Given the description of an element on the screen output the (x, y) to click on. 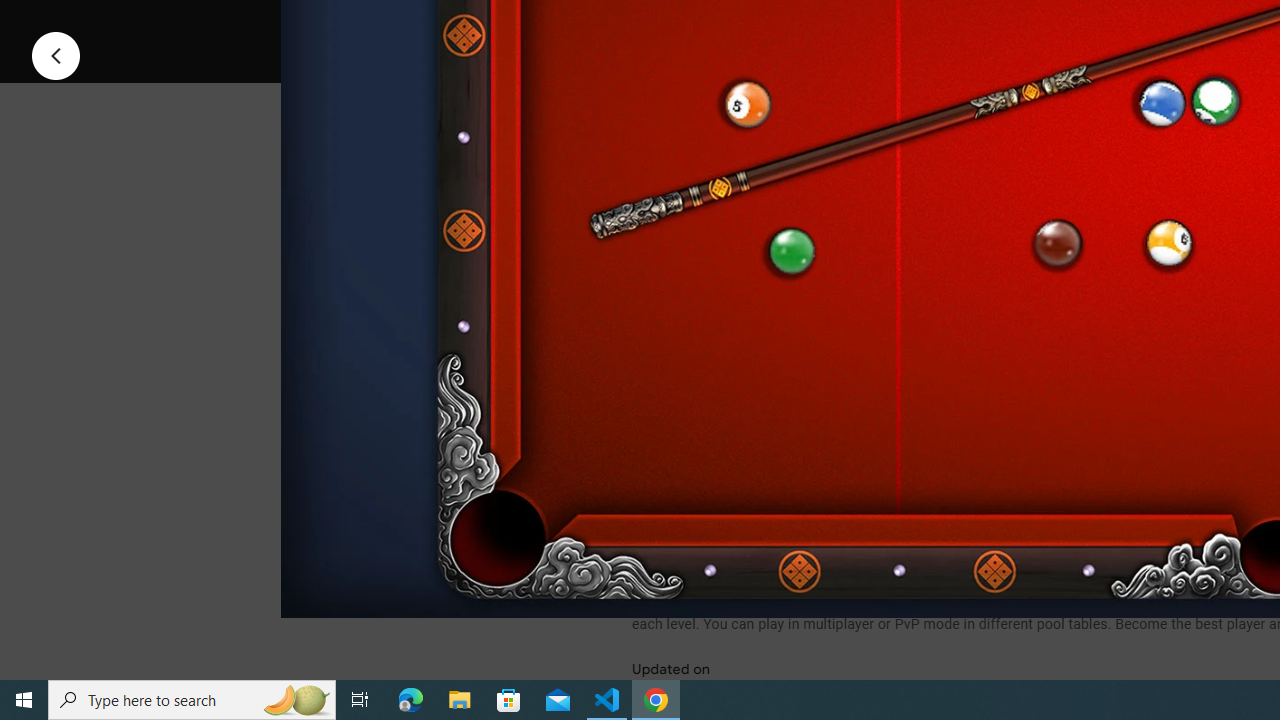
Add to wishlist (1014, 24)
Install (732, 24)
Share (890, 24)
See more information on About this game (830, 477)
Previous (55, 54)
Screenshot image (895, 271)
